Given the description of an element on the screen output the (x, y) to click on. 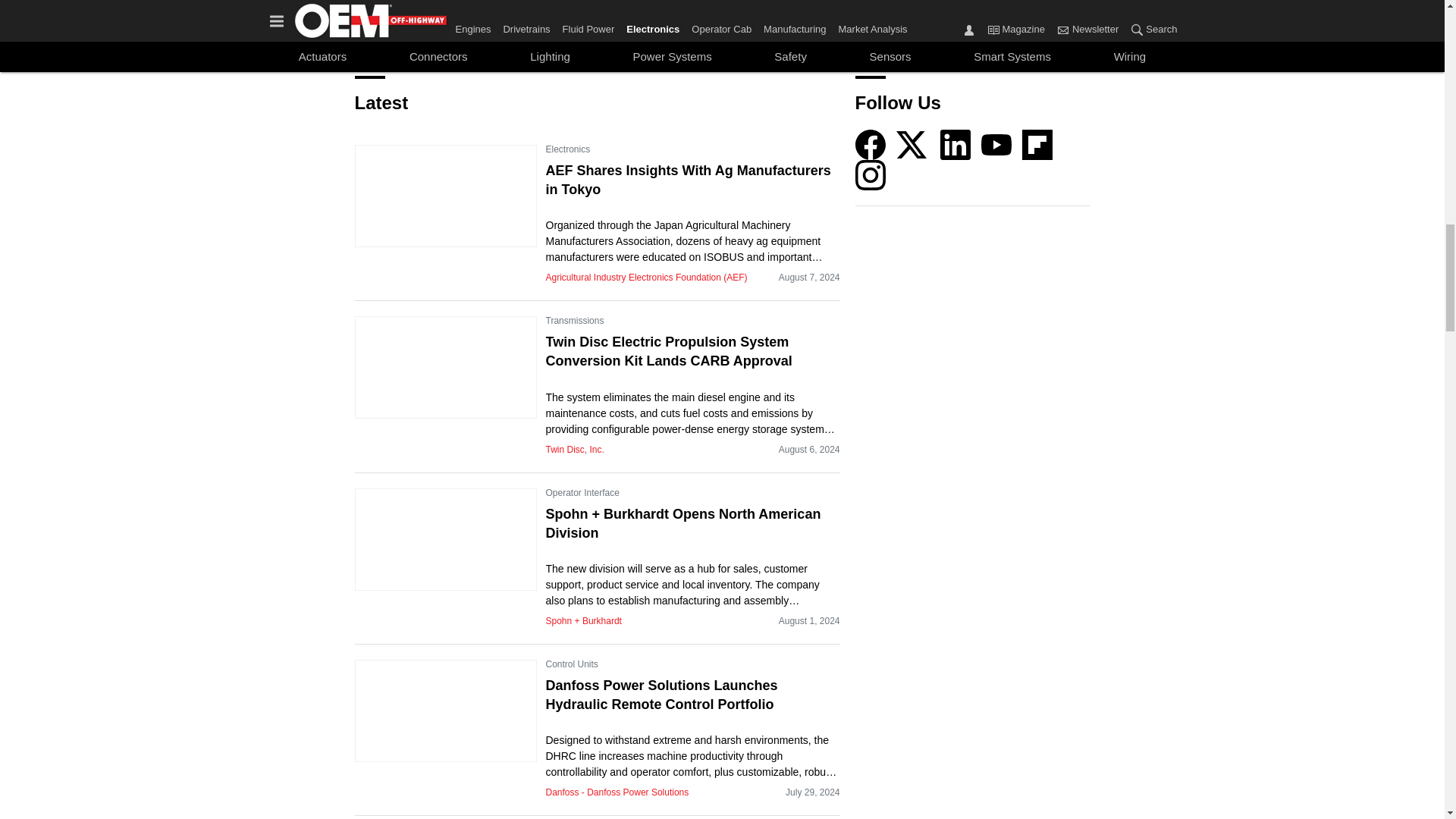
Instagram icon (870, 174)
Twitter X icon (911, 144)
YouTube icon (996, 144)
Flipboard icon (1037, 144)
Facebook icon (870, 144)
LinkedIn icon (955, 144)
